Given the description of an element on the screen output the (x, y) to click on. 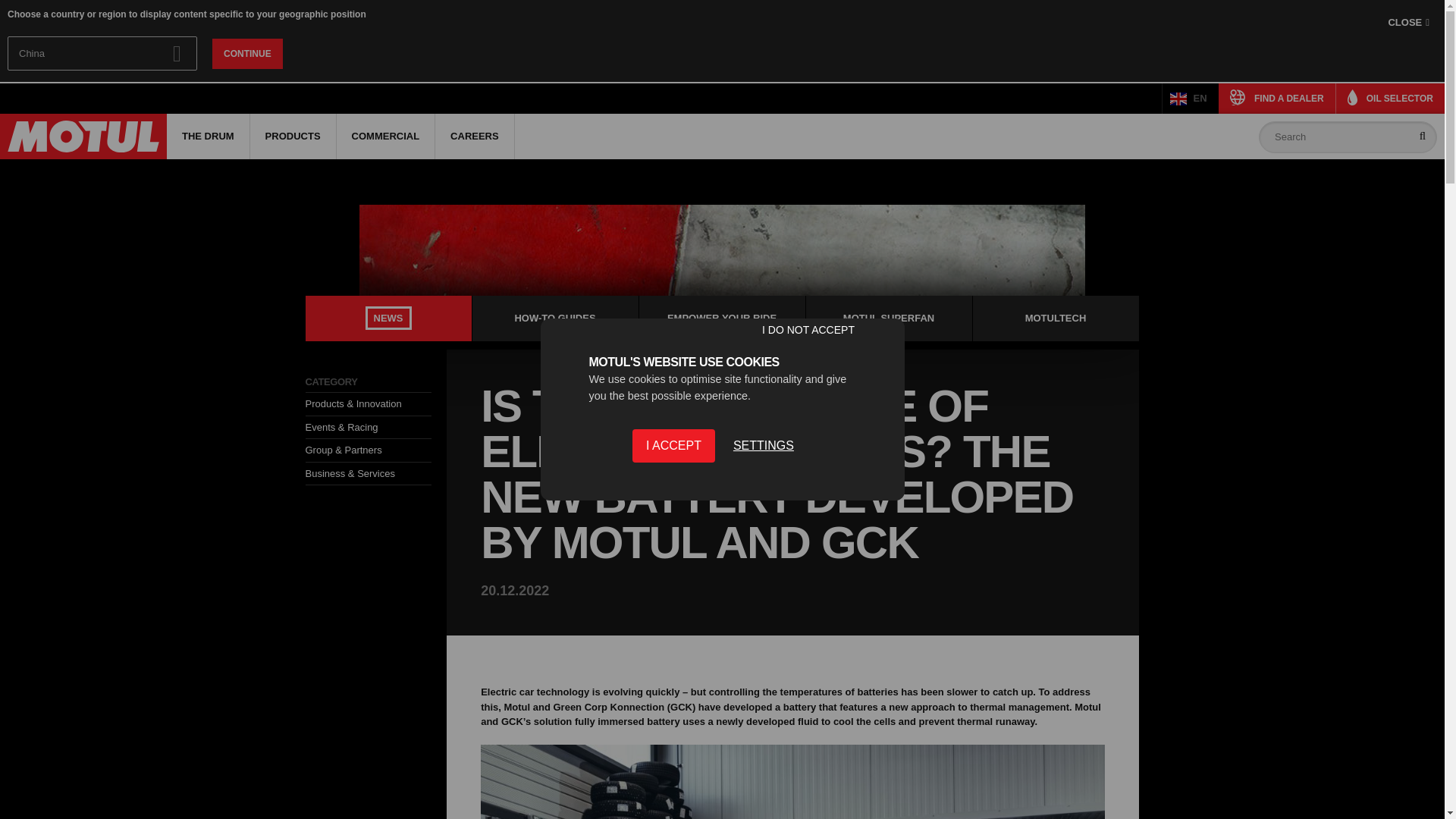
EN (1189, 98)
CONTINUE (247, 52)
PRODUCTS (293, 135)
FIND A DEALER (1277, 98)
CLOSE (1408, 22)
THE DRUM (207, 135)
